Given the description of an element on the screen output the (x, y) to click on. 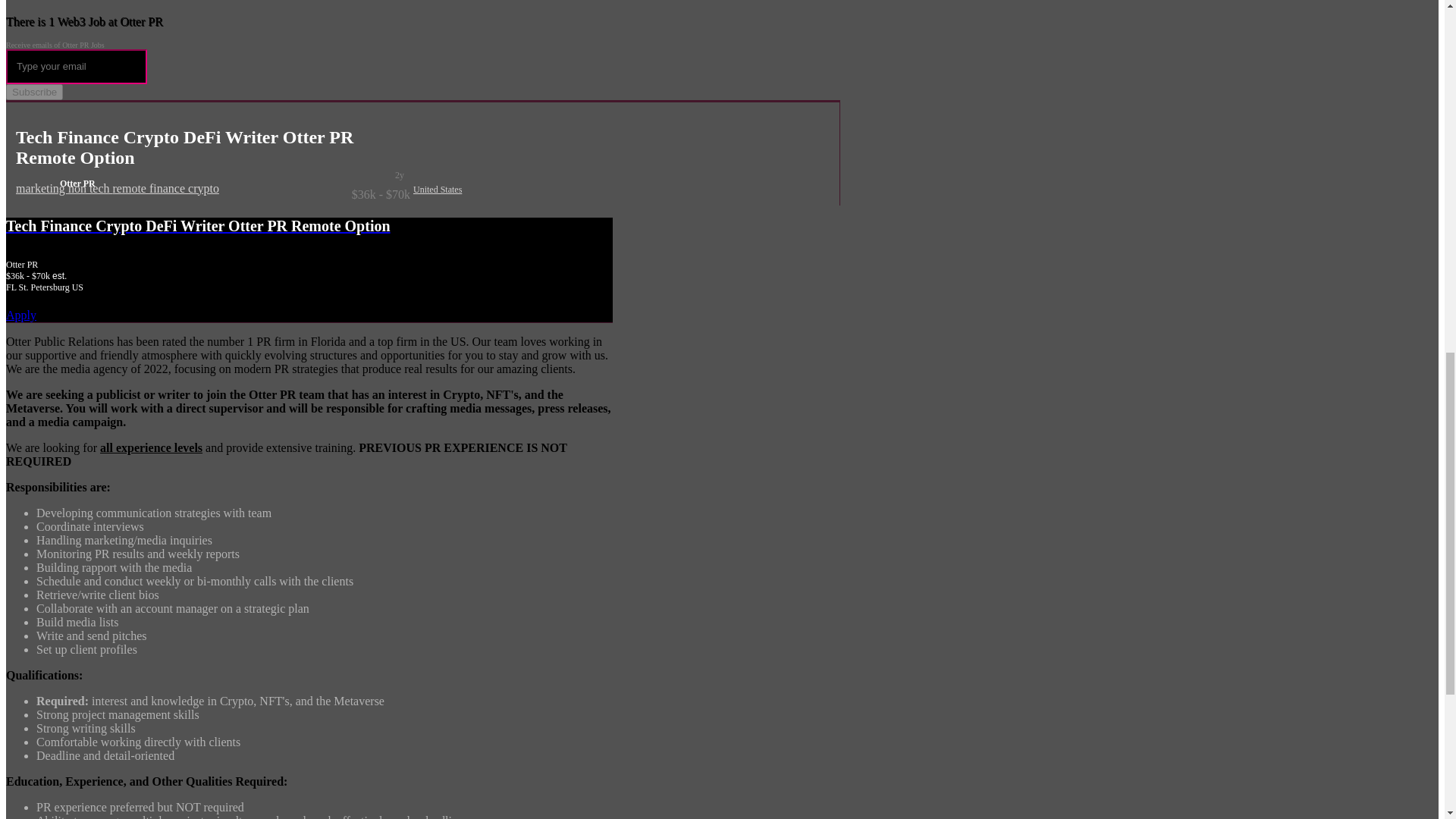
Estimated salary based on similar jobs (213, 194)
Subscribe (33, 91)
Estimated compensation based on similar jobs (308, 276)
